Given the description of an element on the screen output the (x, y) to click on. 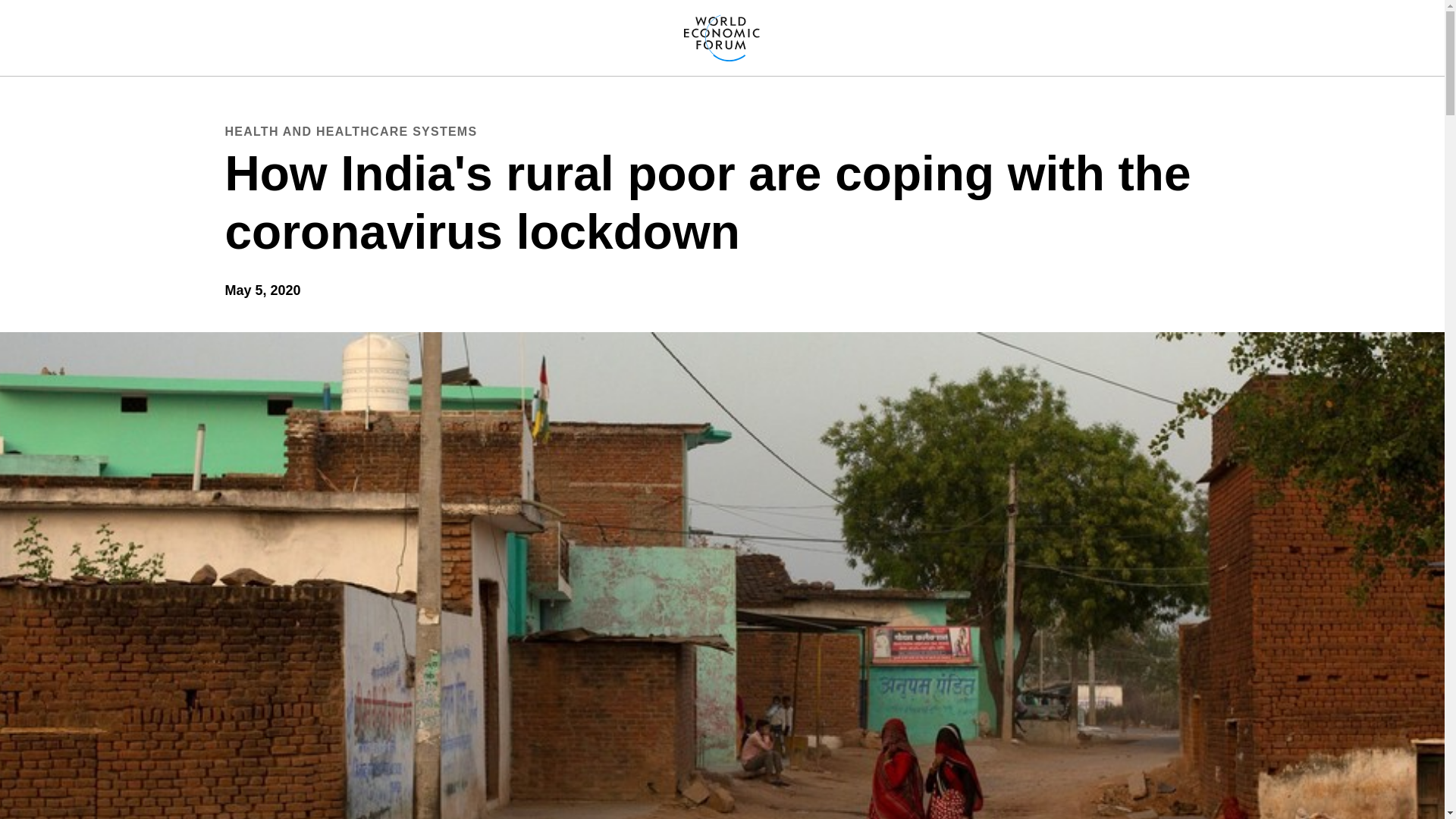
HEALTH AND HEALTHCARE SYSTEMS (350, 131)
